Given the description of an element on the screen output the (x, y) to click on. 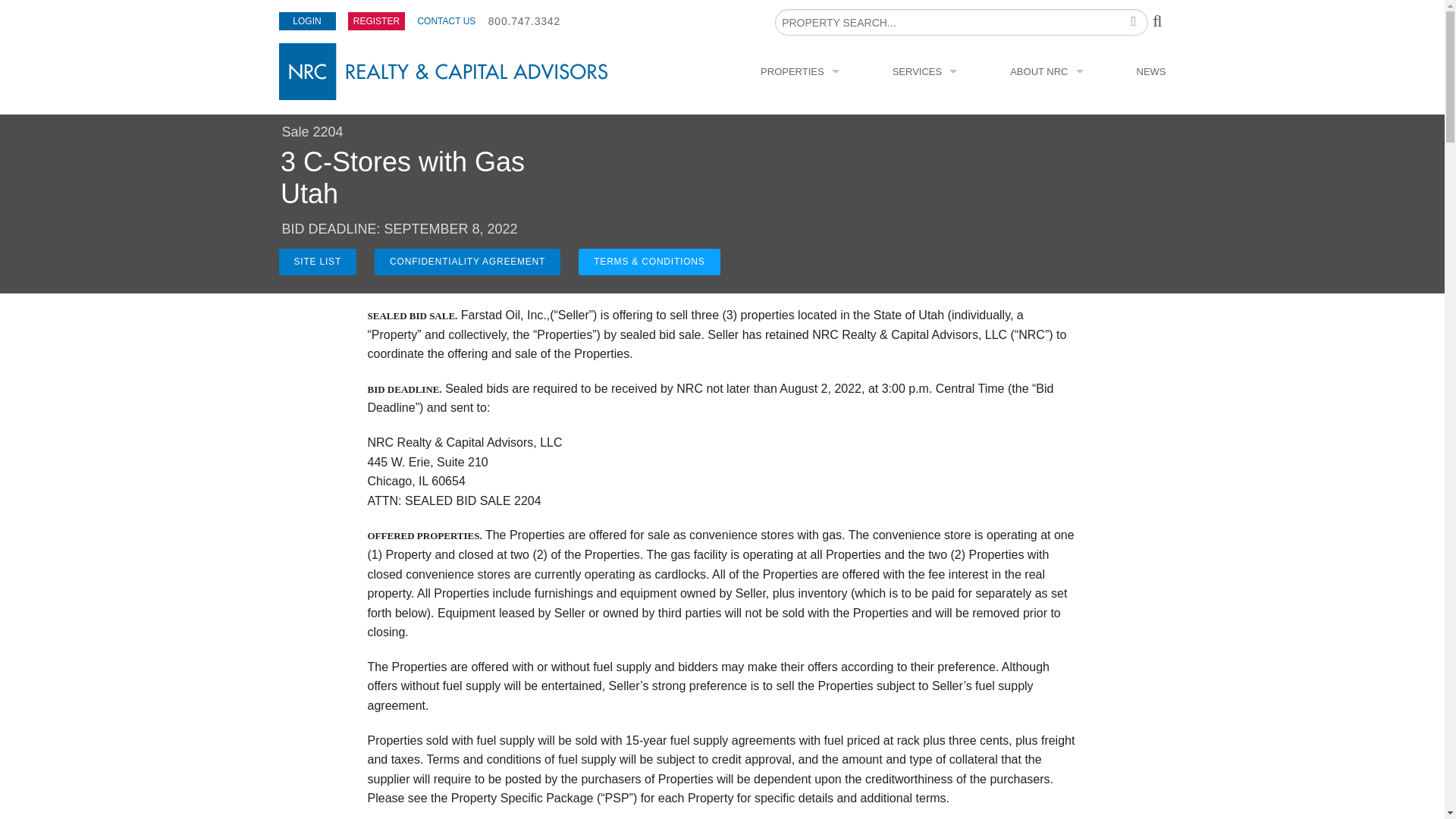
Sale 2204 - Confidentiality Agreement (467, 261)
Sale 2204 - Site List (317, 261)
CONTACT US (446, 20)
SITE LIST (317, 261)
LOGIN (307, 21)
NEWS (1151, 71)
SERVICES (924, 71)
ABOUT NRC (1046, 71)
CONFIDENTIALITY AGREEMENT (467, 261)
PROPERTIES (799, 71)
